Given the description of an element on the screen output the (x, y) to click on. 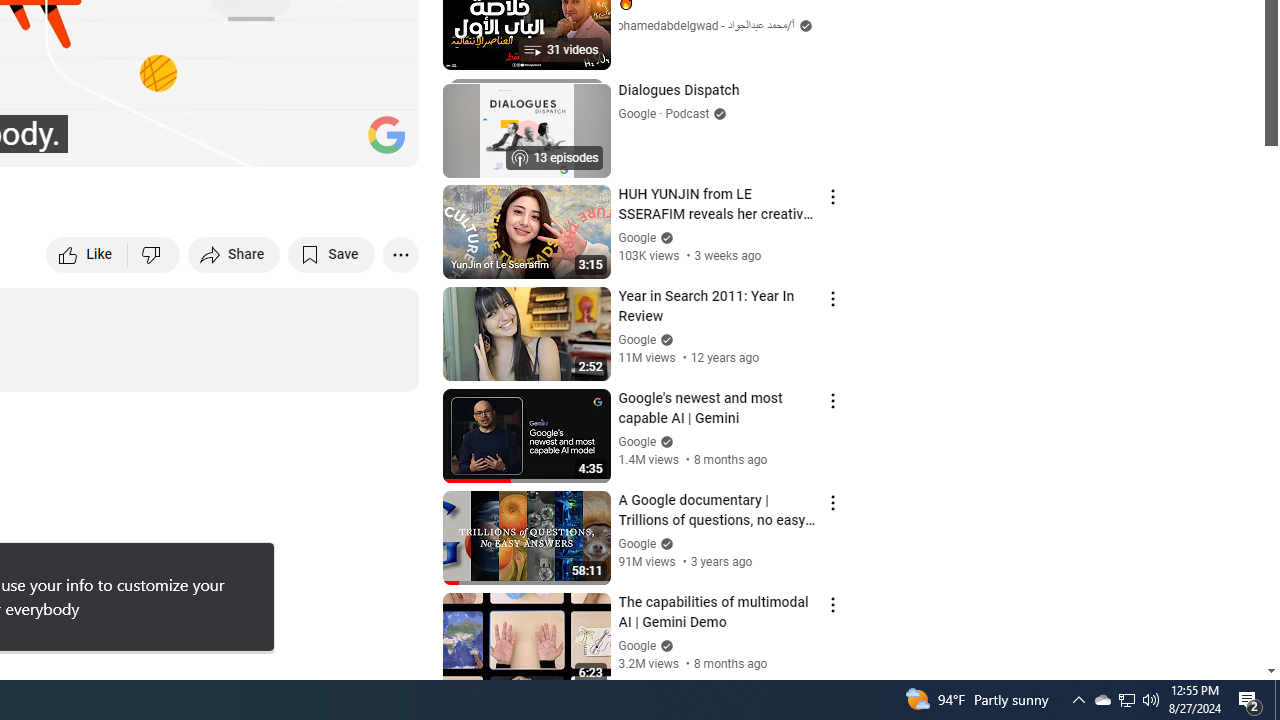
Channel watermark (386, 134)
Share (234, 254)
Action menu (832, 605)
